Given the description of an element on the screen output the (x, y) to click on. 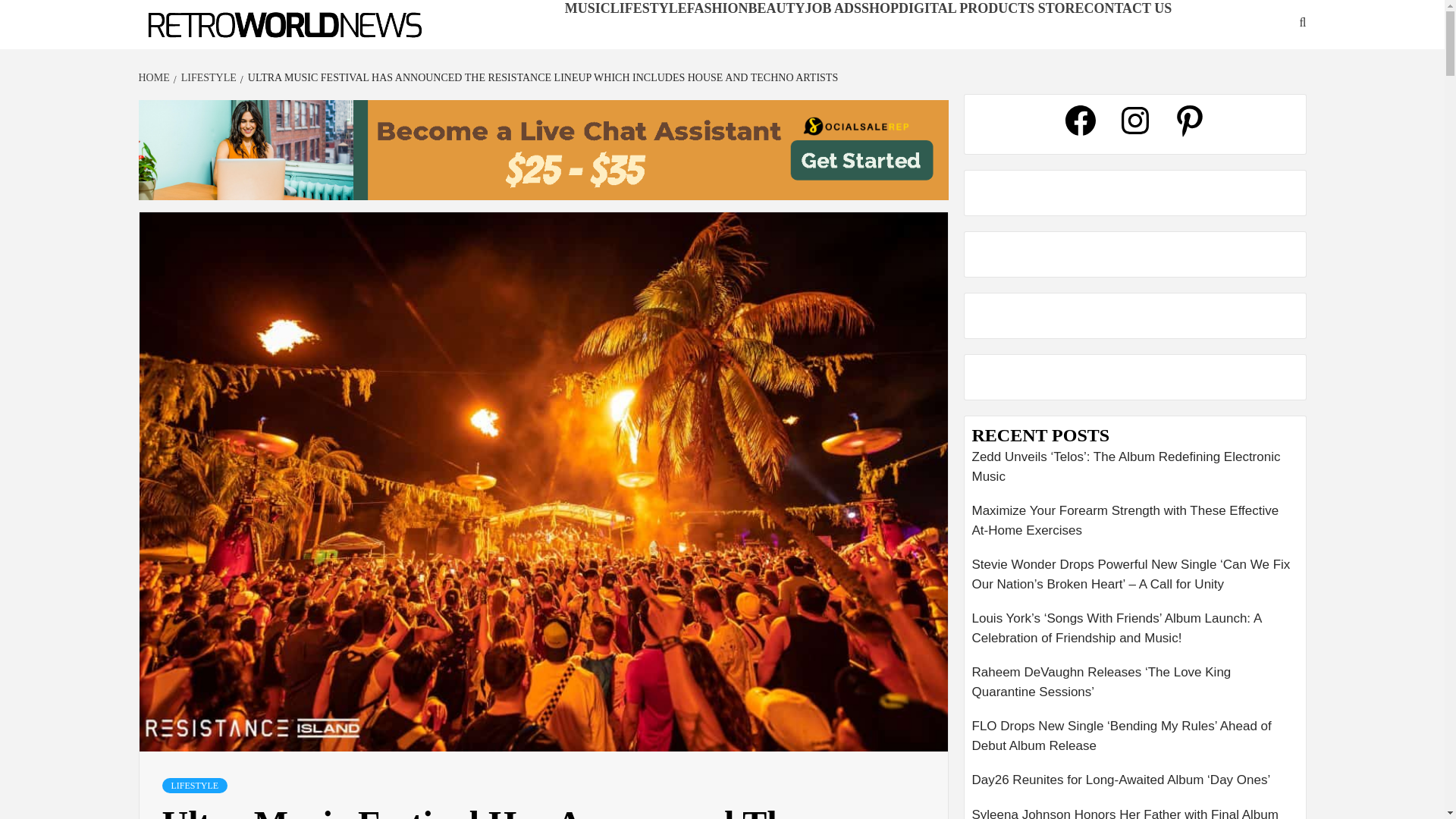
SHOP (879, 7)
RETROWORLDNEWS (223, 48)
LIFESTYLE (194, 785)
JOB ADS (833, 7)
HOME (155, 77)
DIGITAL PRODUCTS STORE (990, 7)
BEAUTY (776, 7)
MUSIC (587, 7)
CONTACT US (1127, 7)
FASHION (717, 7)
